Given the description of an element on the screen output the (x, y) to click on. 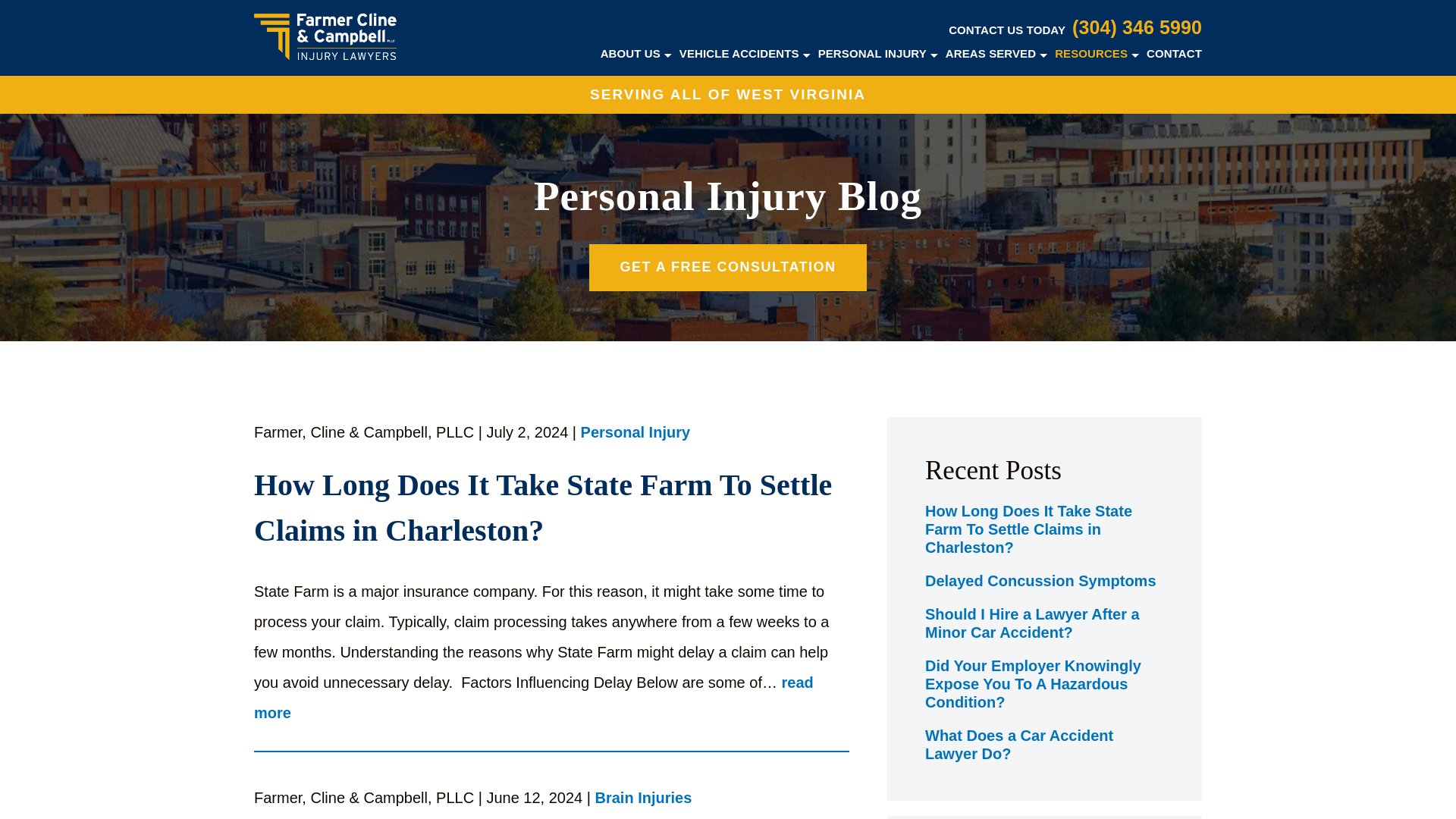
ABOUT US (630, 52)
RESOURCES (1090, 52)
GET A FREE CONSULTATION (727, 267)
Brain Injuries (644, 798)
PERSONAL INJURY (872, 52)
CONTACT (1174, 52)
AREAS SERVED (989, 52)
Personal Injury (635, 433)
read more (533, 698)
VEHICLE ACCIDENTS (739, 52)
